Given the description of an element on the screen output the (x, y) to click on. 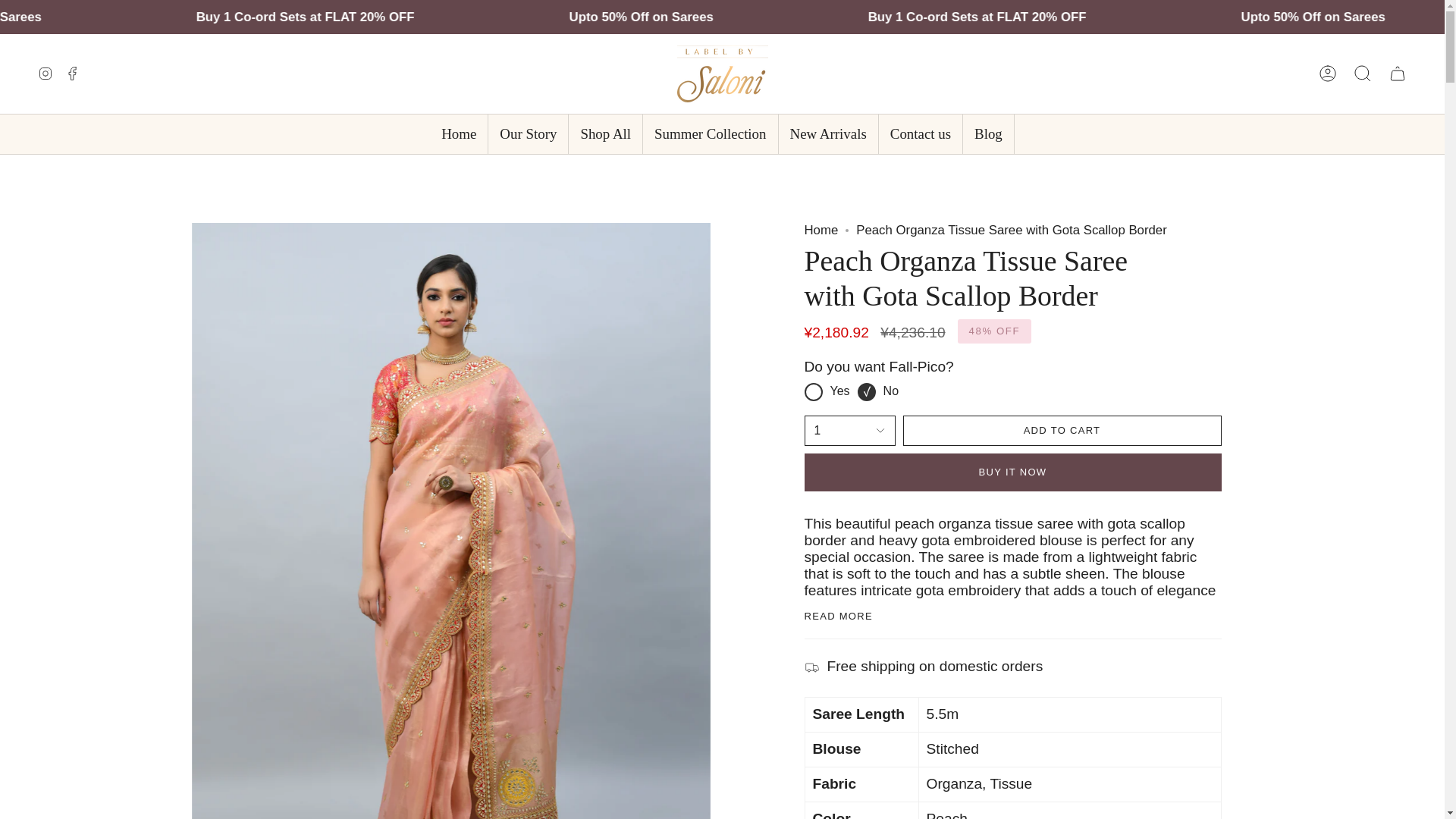
New Arrivals (827, 134)
Our Story (527, 134)
Home (458, 134)
Summer Collection (710, 134)
Shop All (605, 134)
Contact us (920, 134)
Blog (987, 134)
